Given the description of an element on the screen output the (x, y) to click on. 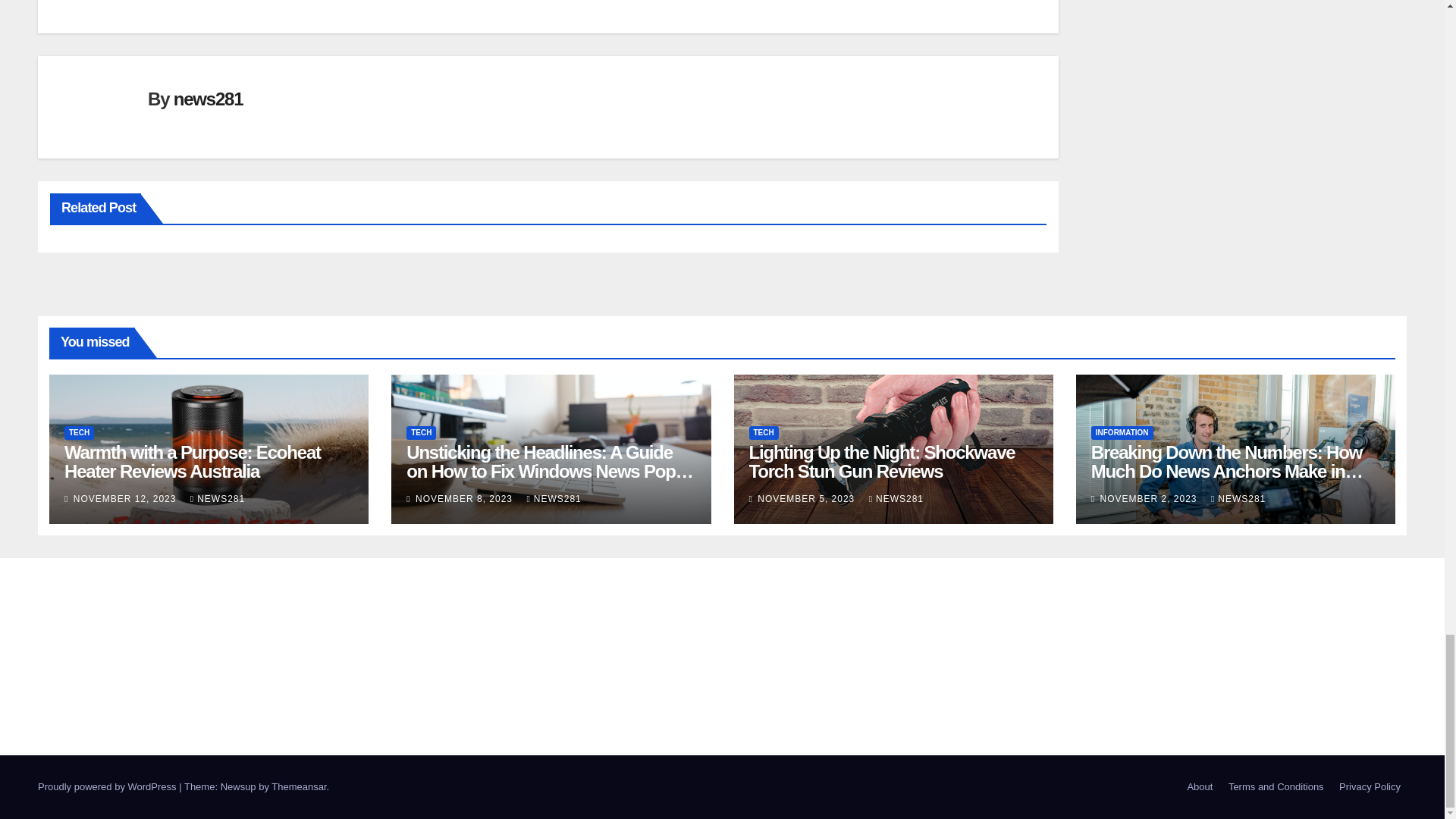
Terms and Conditions (1276, 786)
news281 (208, 98)
TECH (79, 432)
Warmth with a Purpose: Ecoheat Heater Reviews Australia (192, 461)
About (1199, 786)
